Given the description of an element on the screen output the (x, y) to click on. 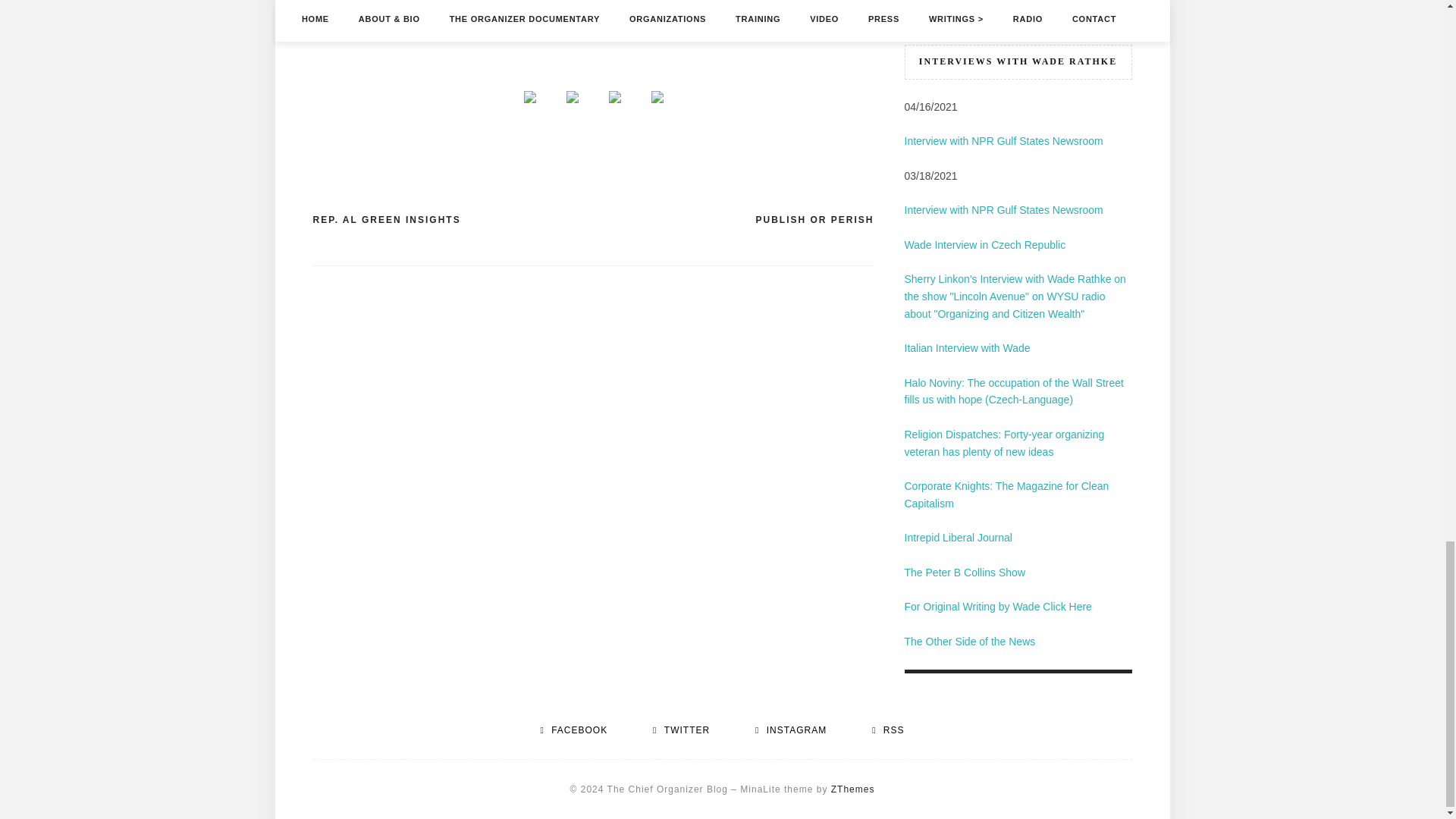
Share on Twitter (572, 96)
Share on Twitter (571, 108)
Share on Facebook (528, 96)
Share on LinkedIn (657, 108)
REP. AL GREEN INSIGHTS (386, 220)
Share on Facebook (529, 108)
PUBLISH OR PERISH (814, 220)
Share on Reddit (613, 108)
Share on LinkedIn (656, 96)
Share on Reddit (614, 96)
